Given the description of an element on the screen output the (x, y) to click on. 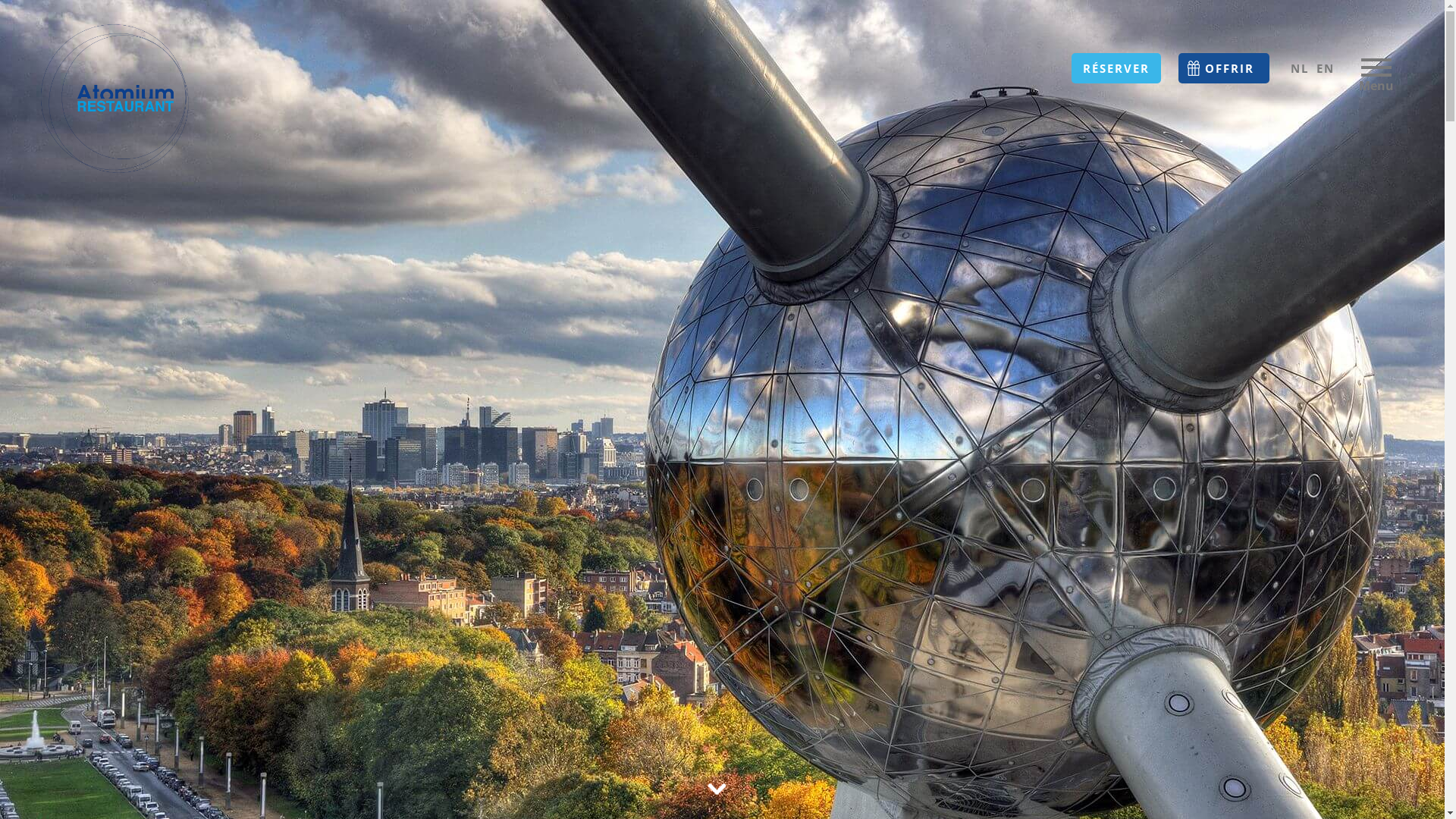
EN Element type: text (1325, 67)
NL Element type: text (1299, 67)
OFFRIR Element type: text (1223, 68)
